Given the description of an element on the screen output the (x, y) to click on. 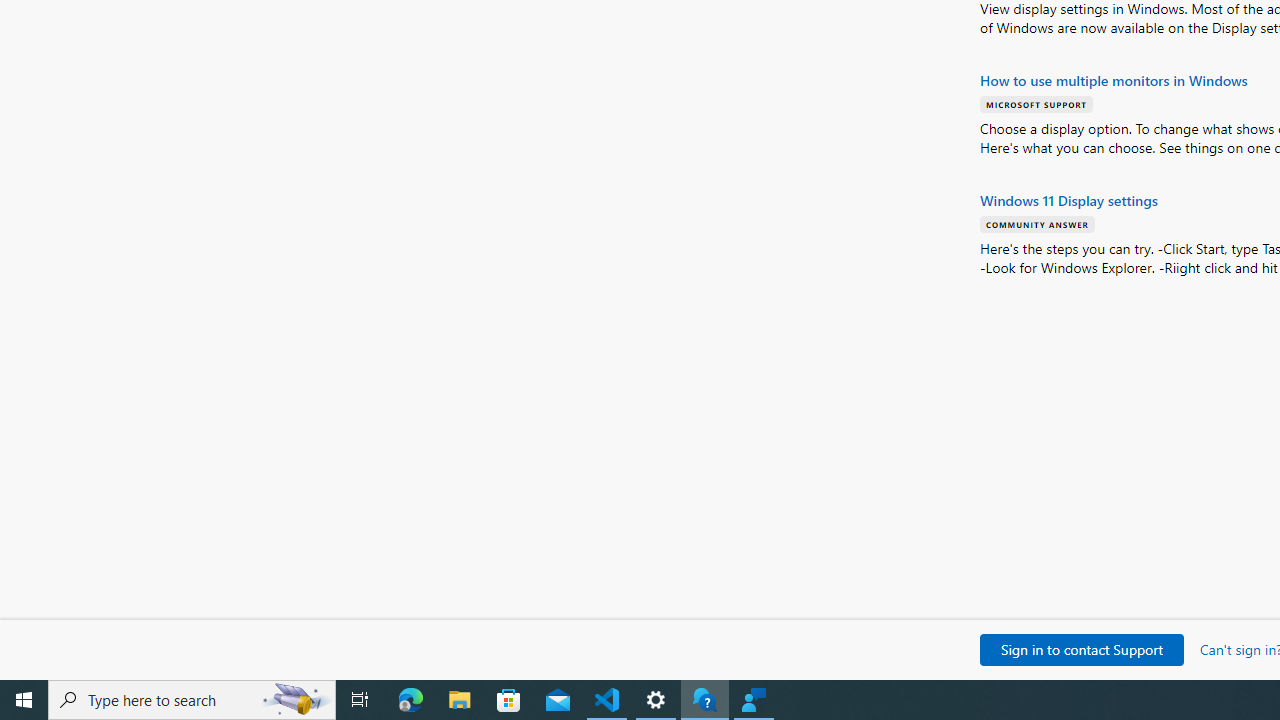
Feedback Hub - 1 running window (754, 699)
Get Help - 1 running window (704, 699)
